Given the description of an element on the screen output the (x, y) to click on. 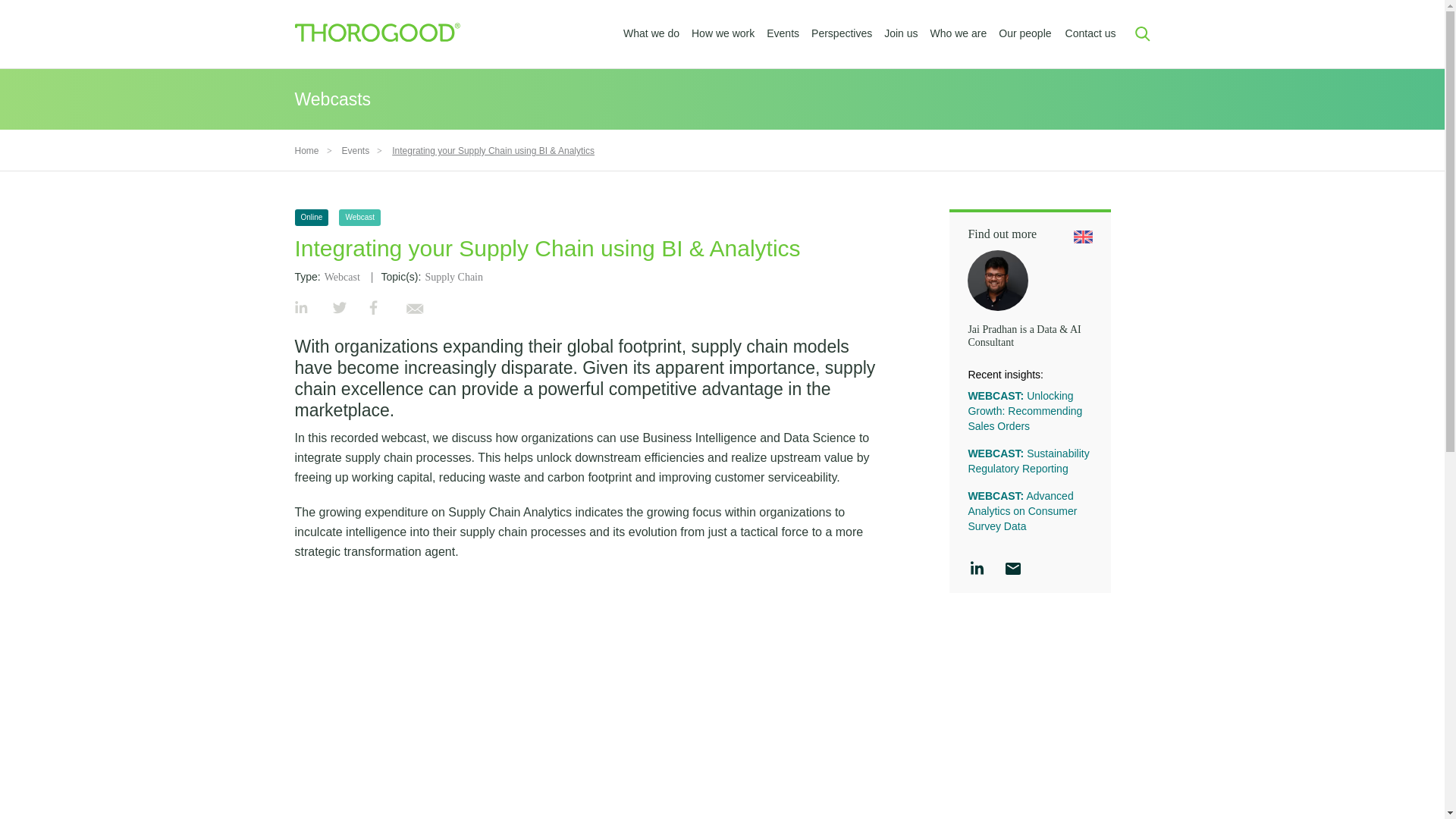
WEBCAST: Unlocking Growth: Recommending Sales Orders (1024, 410)
Share on LinkedIn (300, 309)
Our people (1024, 33)
WEBCAST: Advanced Analytics on Consumer Survey Data (1022, 510)
Events (783, 33)
What we do (651, 33)
Contact us (1090, 33)
Join us (900, 33)
Share on Facebook (372, 309)
Share by Email (414, 309)
Who we are (958, 33)
Events (355, 150)
Perspectives (841, 33)
Webcasts (332, 98)
Share on Twitter (339, 309)
